Given the description of an element on the screen output the (x, y) to click on. 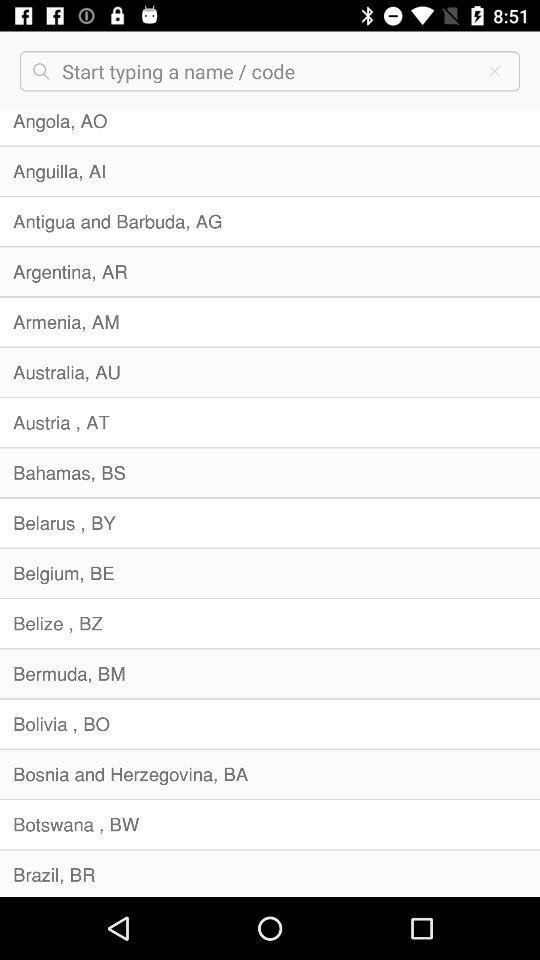
scroll to austria , at icon (270, 422)
